Given the description of an element on the screen output the (x, y) to click on. 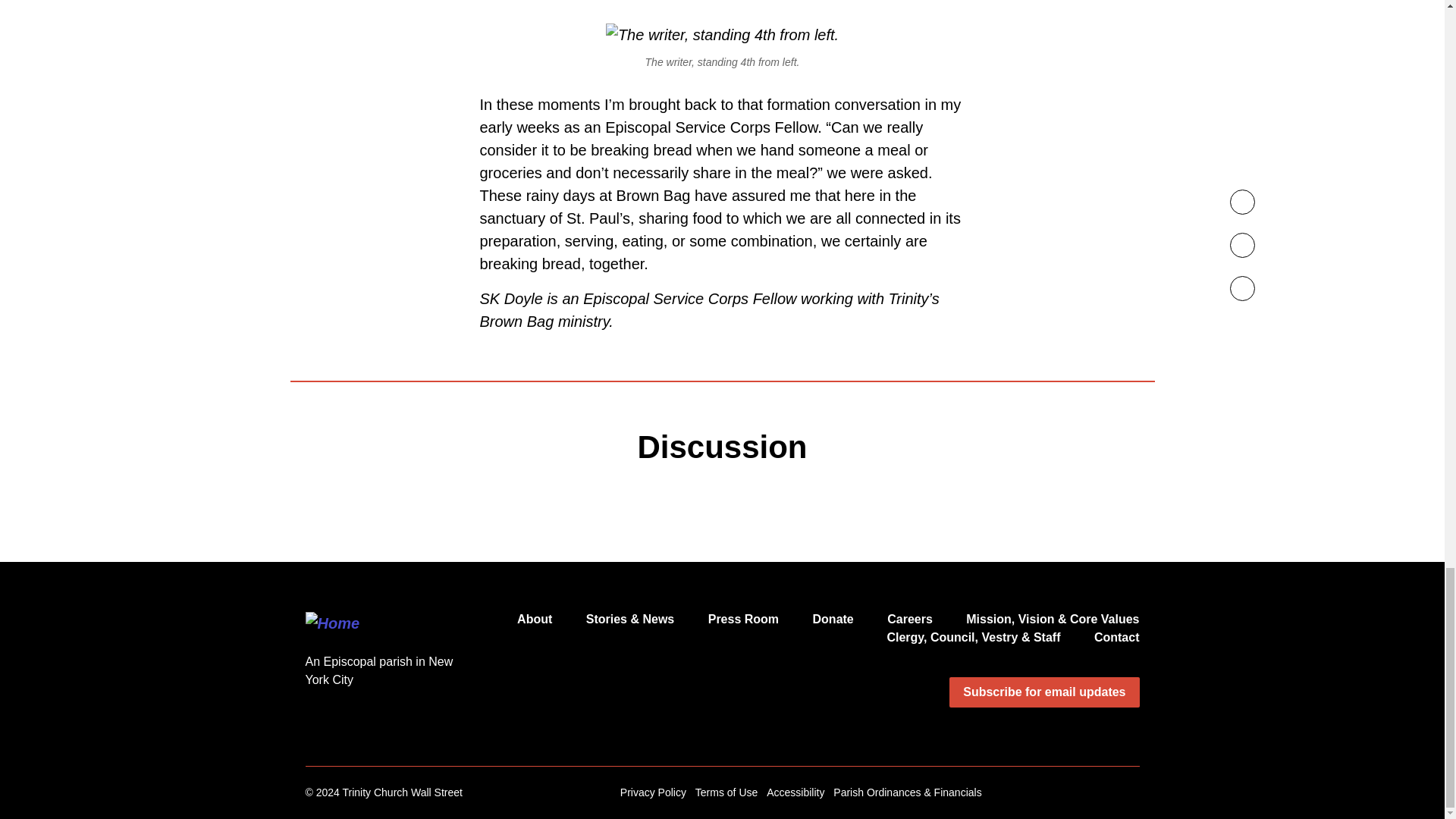
Press Room (742, 618)
Donate (832, 618)
Directory (972, 636)
Terms of Use (726, 792)
Careers (909, 618)
Privacy Policy (652, 792)
Accessibility (795, 792)
Terms of Use (726, 792)
Home (379, 622)
About (533, 618)
Donate (832, 618)
Privacy Policy (652, 792)
About (533, 618)
Press Room (742, 618)
Contact (1117, 636)
